Given the description of an element on the screen output the (x, y) to click on. 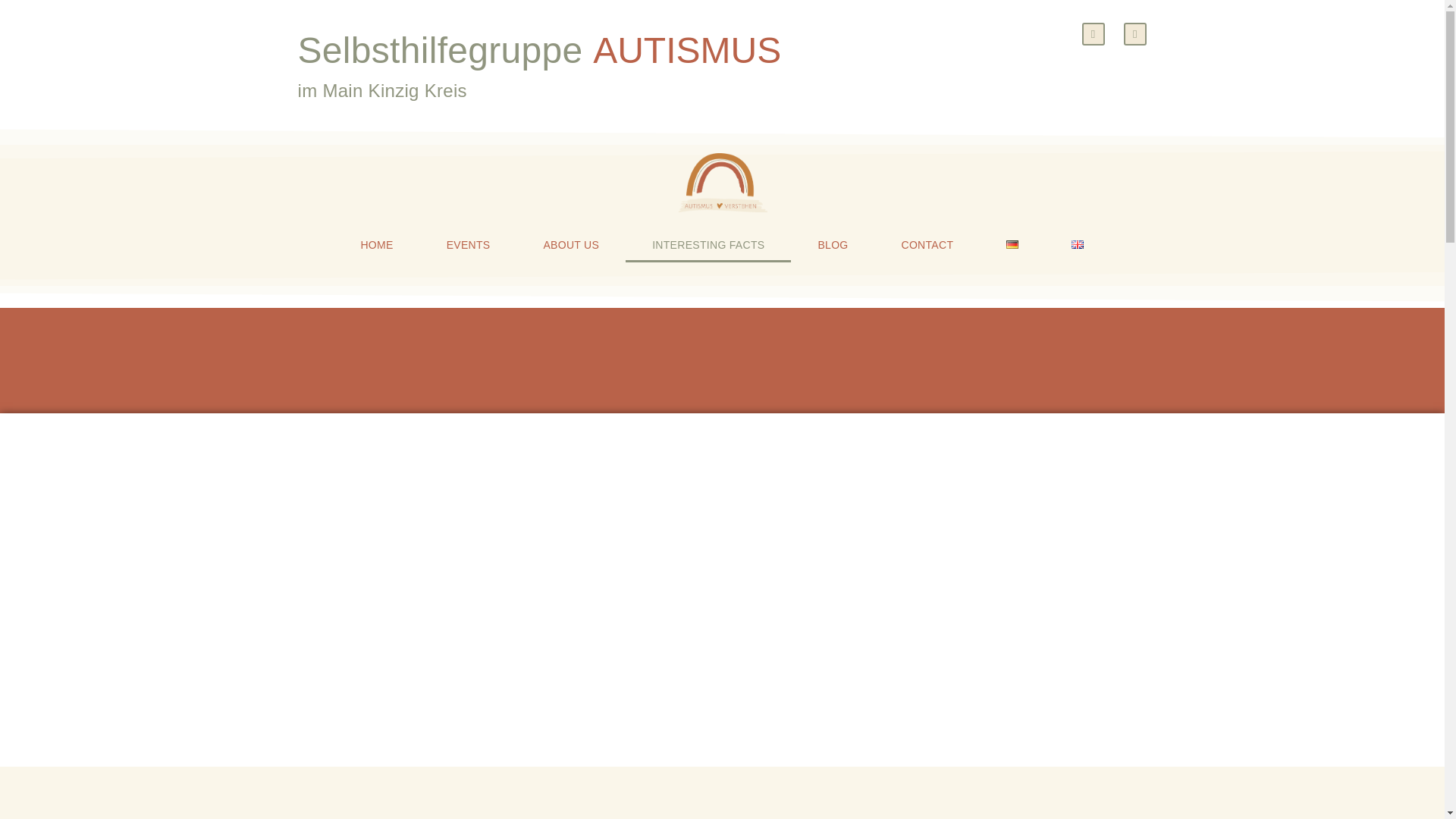
ABOUT US (571, 244)
EVENTS (468, 244)
INTERESTING FACTS (708, 244)
BLOG (832, 244)
CONTACT (927, 244)
HOME (376, 244)
